Given the description of an element on the screen output the (x, y) to click on. 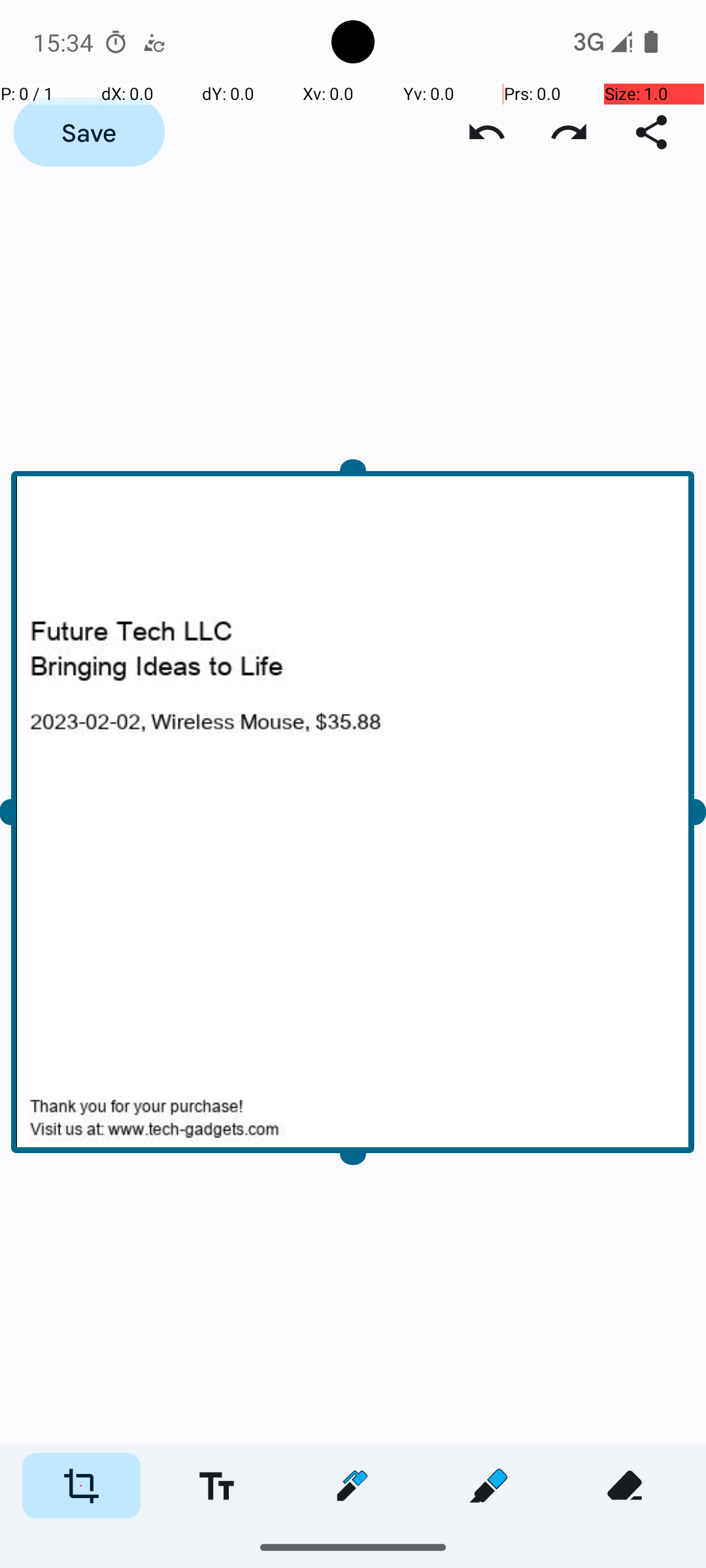
Drawing canvas Element type: android.widget.LinearLayout (353, 812)
Crop Element type: android.widget.Button (81, 1485)
Pen Element type: android.widget.Button (352, 1485)
Highlighter Element type: android.widget.Button (488, 1485)
Top boundary 0 percent Element type: android.widget.SeekBar (353, 476)
Left boundary 0 percent Element type: android.widget.SeekBar (29, 812)
Right boundary 100 percent Element type: android.widget.SeekBar (676, 812)
Bottom boundary 100 percent Element type: android.widget.SeekBar (353, 1148)
